Given the description of an element on the screen output the (x, y) to click on. 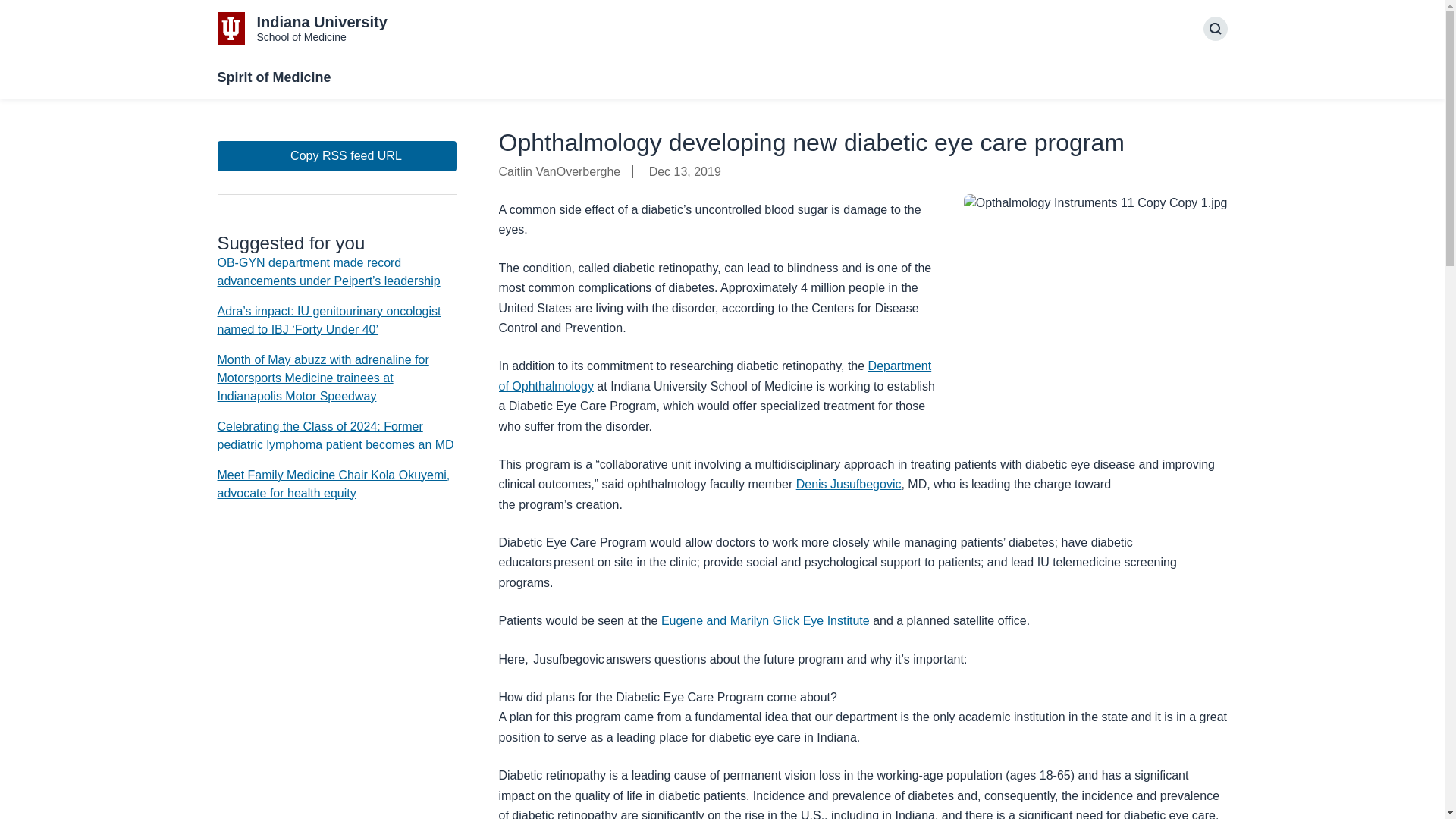
Caitlin VanOverberghe (566, 171)
Opthalmology Instruments 11 Copy Copy 1.jpg (1095, 203)
Toggle Search Box (1214, 28)
Department of Ophthalmology (715, 375)
Eugene and Marilyn Glick Eye Institute (765, 620)
   Copy RSS feed URL (335, 155)
Denis Jusufbegovic (848, 483)
